Given the description of an element on the screen output the (x, y) to click on. 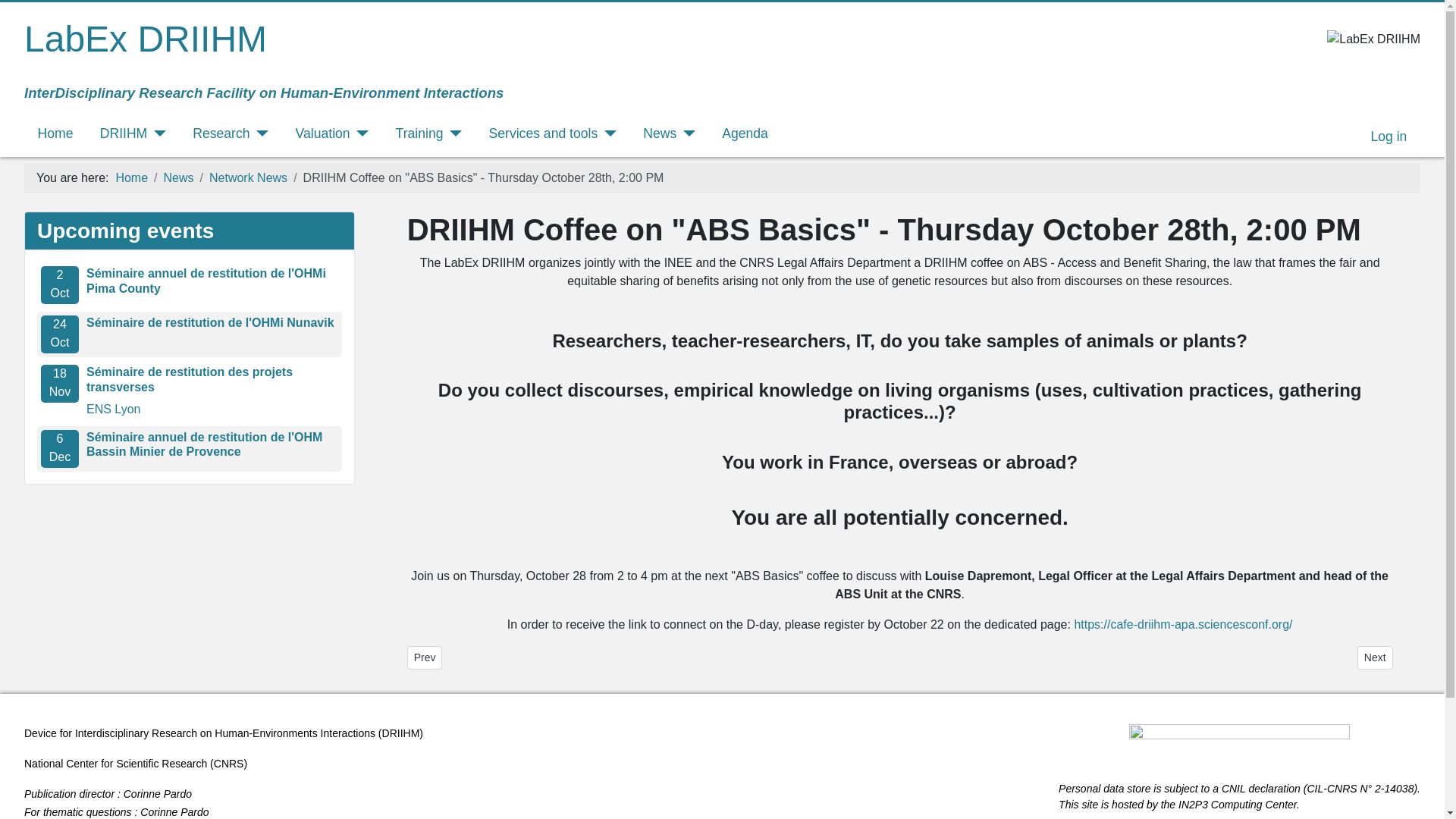
DRIIHM (400, 733)
LabEx DRIIHM (145, 38)
News (660, 133)
LabEx DRIIHM (145, 38)
DRIIHM (132, 133)
Training (429, 133)
Services and tools (553, 133)
CNRS (229, 763)
Valuation (332, 133)
Network News (247, 177)
Corinne Pardo (157, 793)
Corinne Pardo (173, 811)
Official website (1233, 788)
News (178, 177)
